Given the description of an element on the screen output the (x, y) to click on. 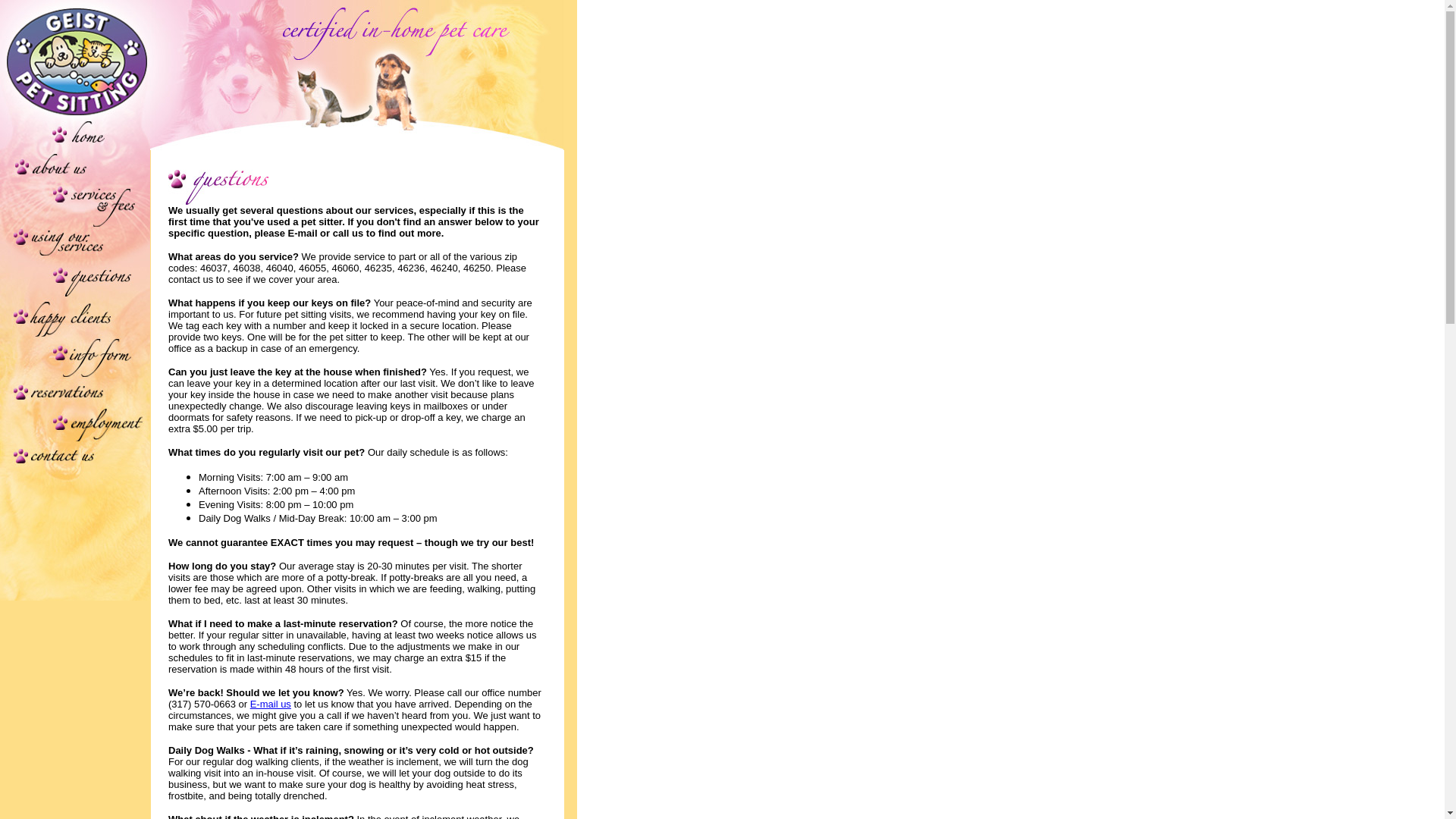
E-mail us (270, 704)
